Given the description of an element on the screen output the (x, y) to click on. 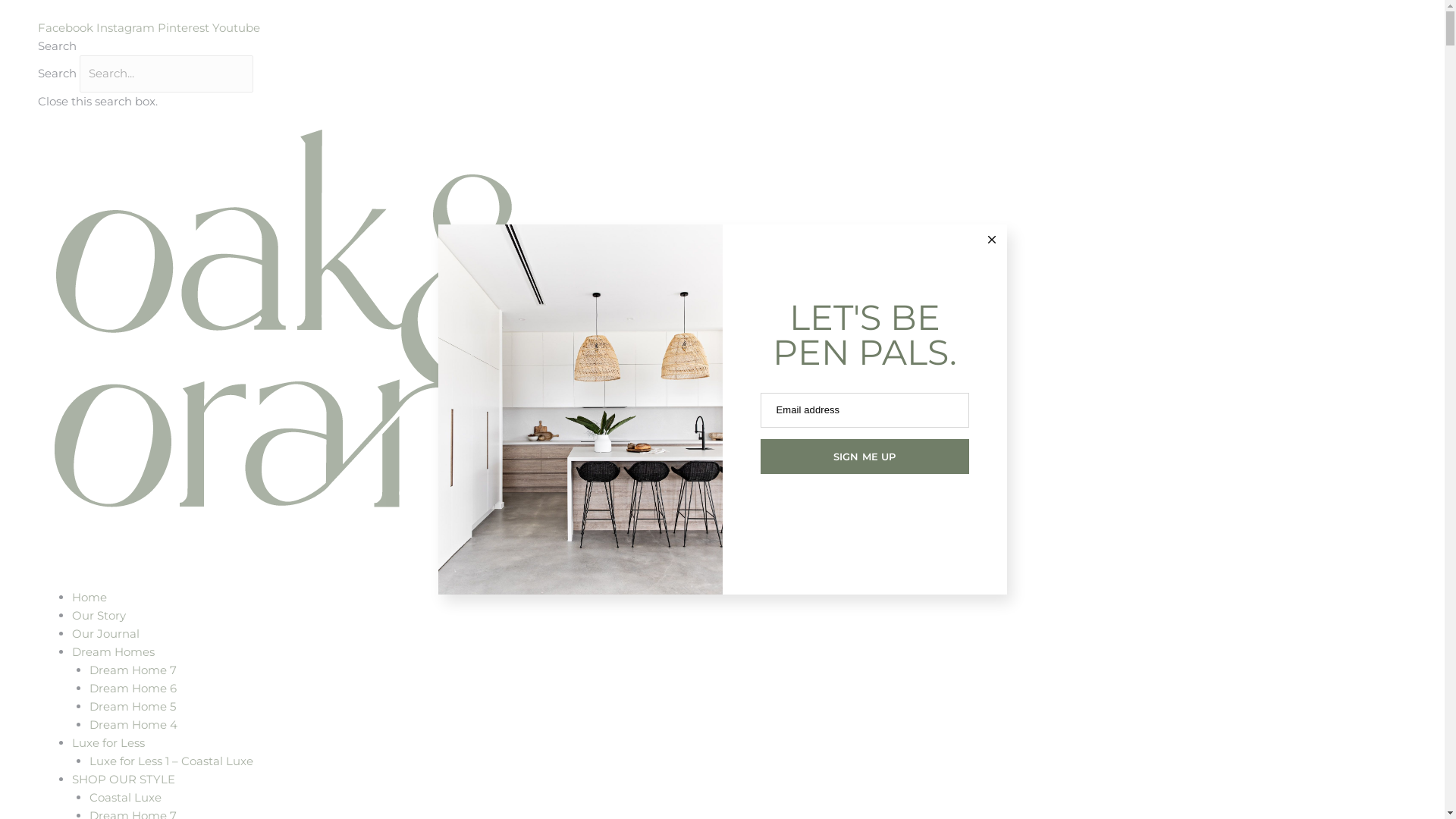
Luxe for Less Element type: text (108, 742)
Instagram Element type: text (126, 27)
Dream Home 7 Element type: text (132, 669)
Dream Home 5 Element type: text (132, 706)
Our Journal Element type: text (105, 633)
Pinterest Element type: text (184, 27)
SIGN ME UP Element type: text (863, 456)
Our Story Element type: text (98, 615)
Facebook Element type: text (66, 27)
Dream Homes Element type: text (113, 651)
Dream Home 4 Element type: text (133, 724)
SHOP OUR STYLE Element type: text (123, 778)
Dream Home 6 Element type: text (132, 687)
Home Element type: text (89, 596)
Coastal Luxe Element type: text (125, 797)
Youtube Element type: text (236, 27)
